Given the description of an element on the screen output the (x, y) to click on. 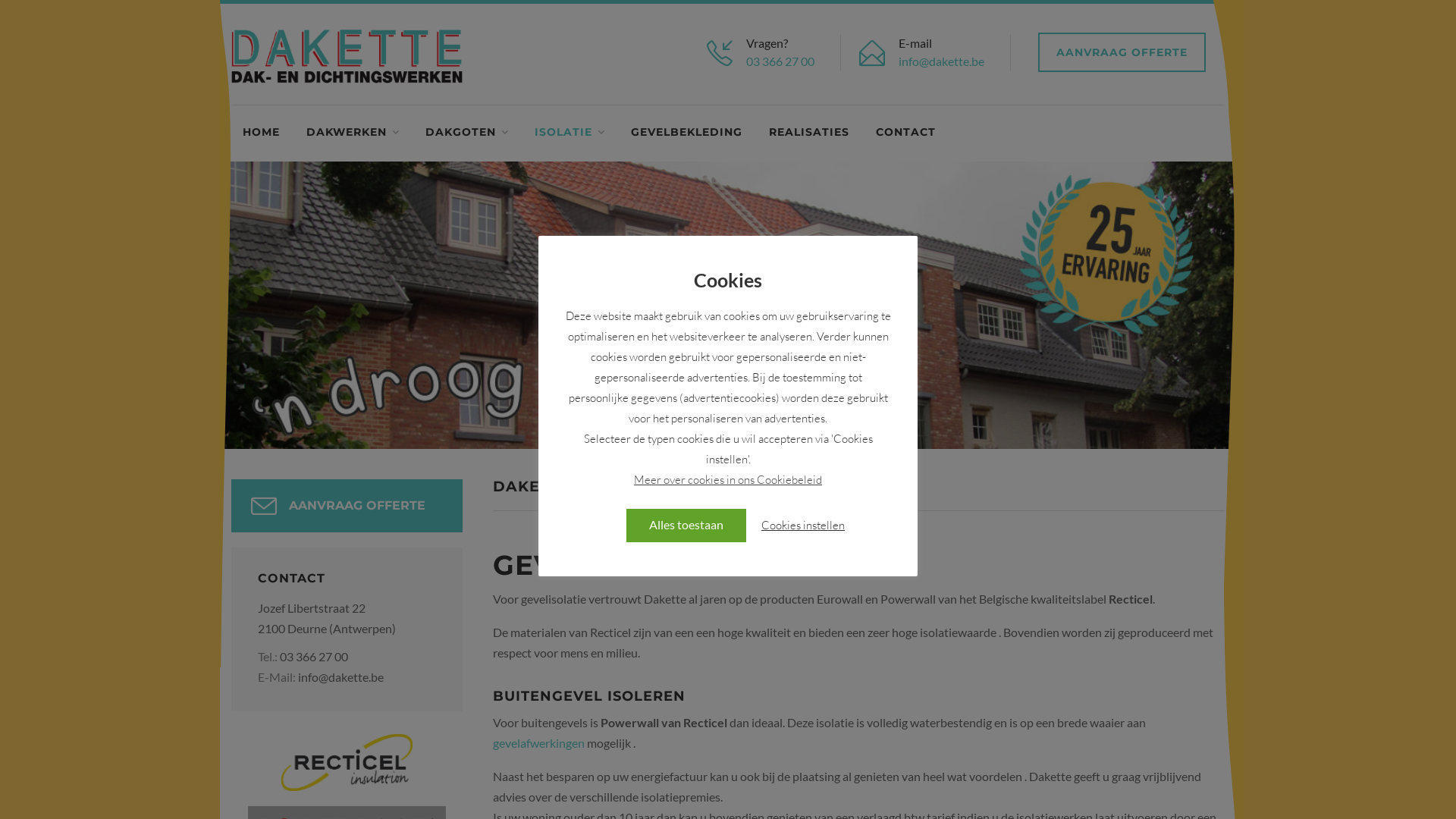
Cookies instellen Element type: text (802, 524)
03 366 27 00 Element type: text (313, 656)
03 366 27 00 Element type: text (780, 60)
info@dakette.be Element type: text (340, 676)
info@dakette.be Element type: text (941, 60)
CONTACT Element type: text (905, 133)
HOME Element type: text (261, 133)
gevelafwerkingen Element type: text (538, 742)
GEVELBEKLEDING Element type: text (686, 133)
AANVRAAG OFFERTE Element type: text (1121, 52)
AANVRAAG OFFERTE Element type: text (346, 505)
REALISATIES Element type: text (808, 133)
ISOLATIE Element type: text (569, 133)
DAKGOTEN Element type: text (466, 133)
Meer over cookies in ons Cookiebeleid Element type: text (727, 478)
Alles toestaan Element type: text (686, 524)
DAKWERKEN Element type: text (352, 133)
